Given the description of an element on the screen output the (x, y) to click on. 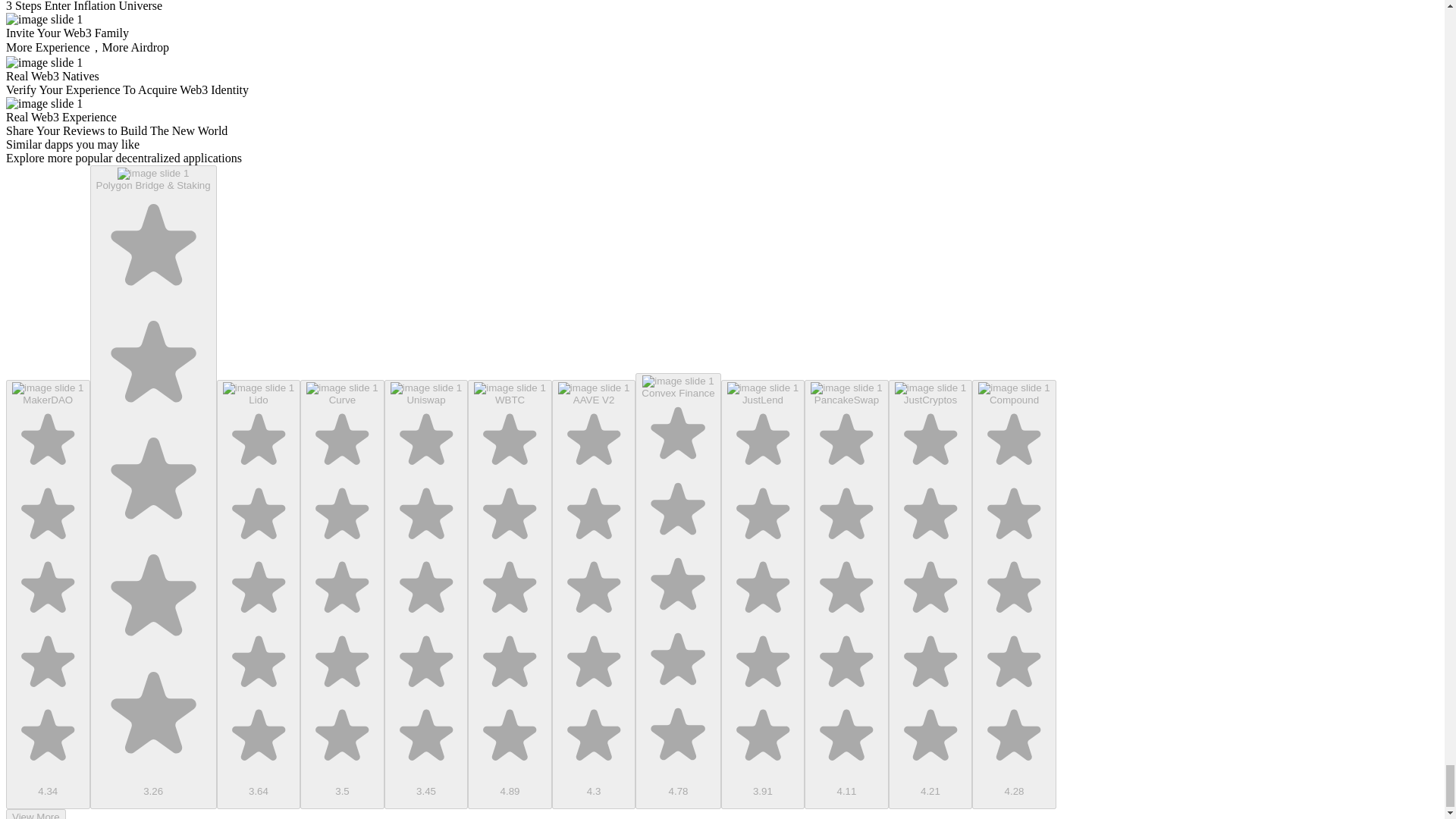
Third star (47, 588)
Second star (153, 364)
First star (153, 247)
First star (258, 441)
Fifth star (153, 716)
Fifth star (47, 737)
Third star (258, 588)
Fourth star (153, 598)
